Given the description of an element on the screen output the (x, y) to click on. 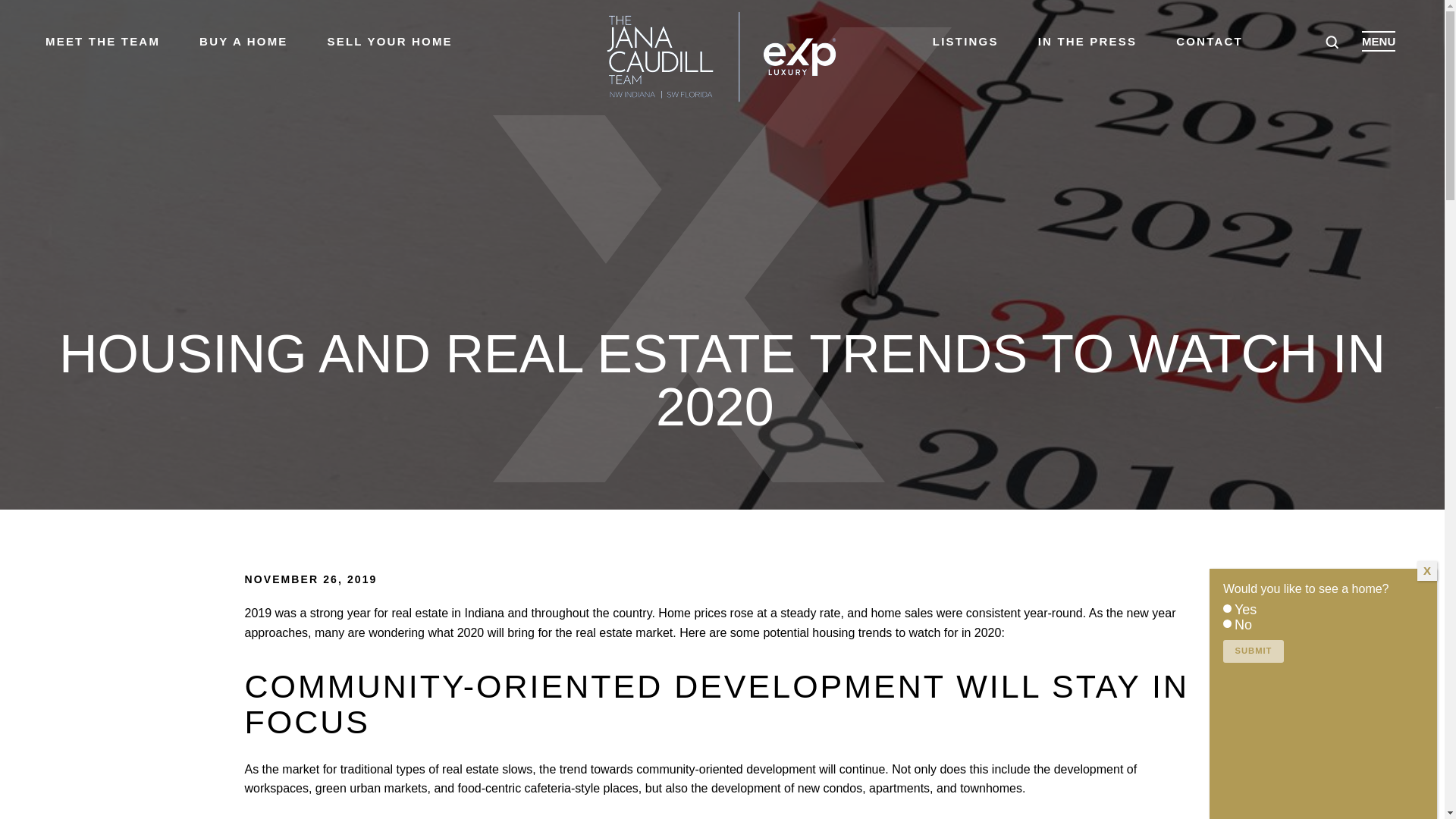
Submit (1253, 650)
CONTACT (1209, 43)
MEET THE TEAM (102, 43)
BUY A HOME (242, 43)
IN THE PRESS (1087, 43)
SELL YOUR HOME (389, 43)
LISTINGS (965, 43)
MENU (1377, 41)
